Given the description of an element on the screen output the (x, y) to click on. 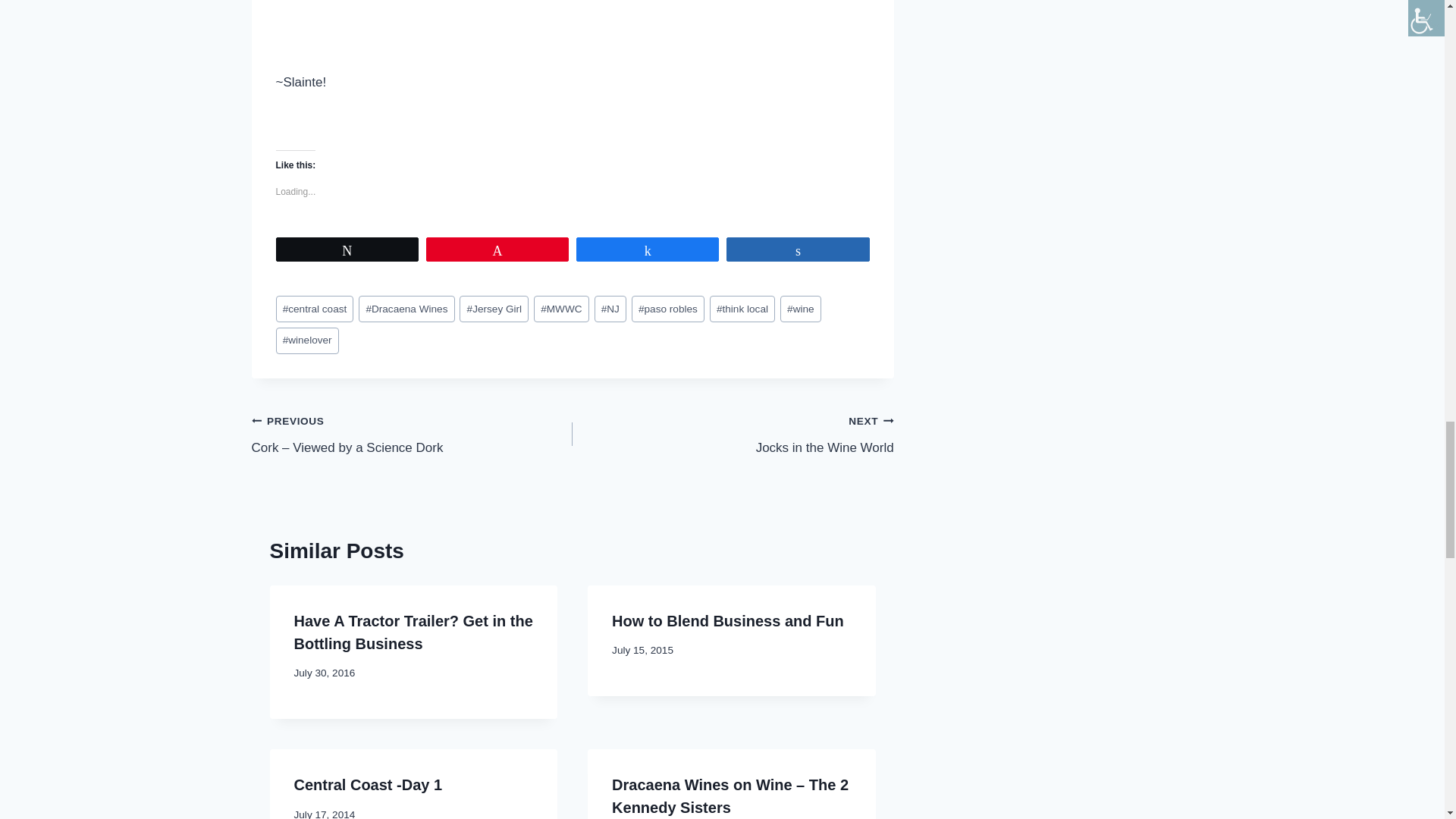
wine (800, 308)
paso robles (667, 308)
Dracaena Wines (406, 308)
Dracaena Wines, be local, eat local, buy local  (397, 25)
central coast (314, 308)
Jersey Girl (494, 308)
MWWC (561, 308)
think local (742, 308)
NJ (610, 308)
